Given the description of an element on the screen output the (x, y) to click on. 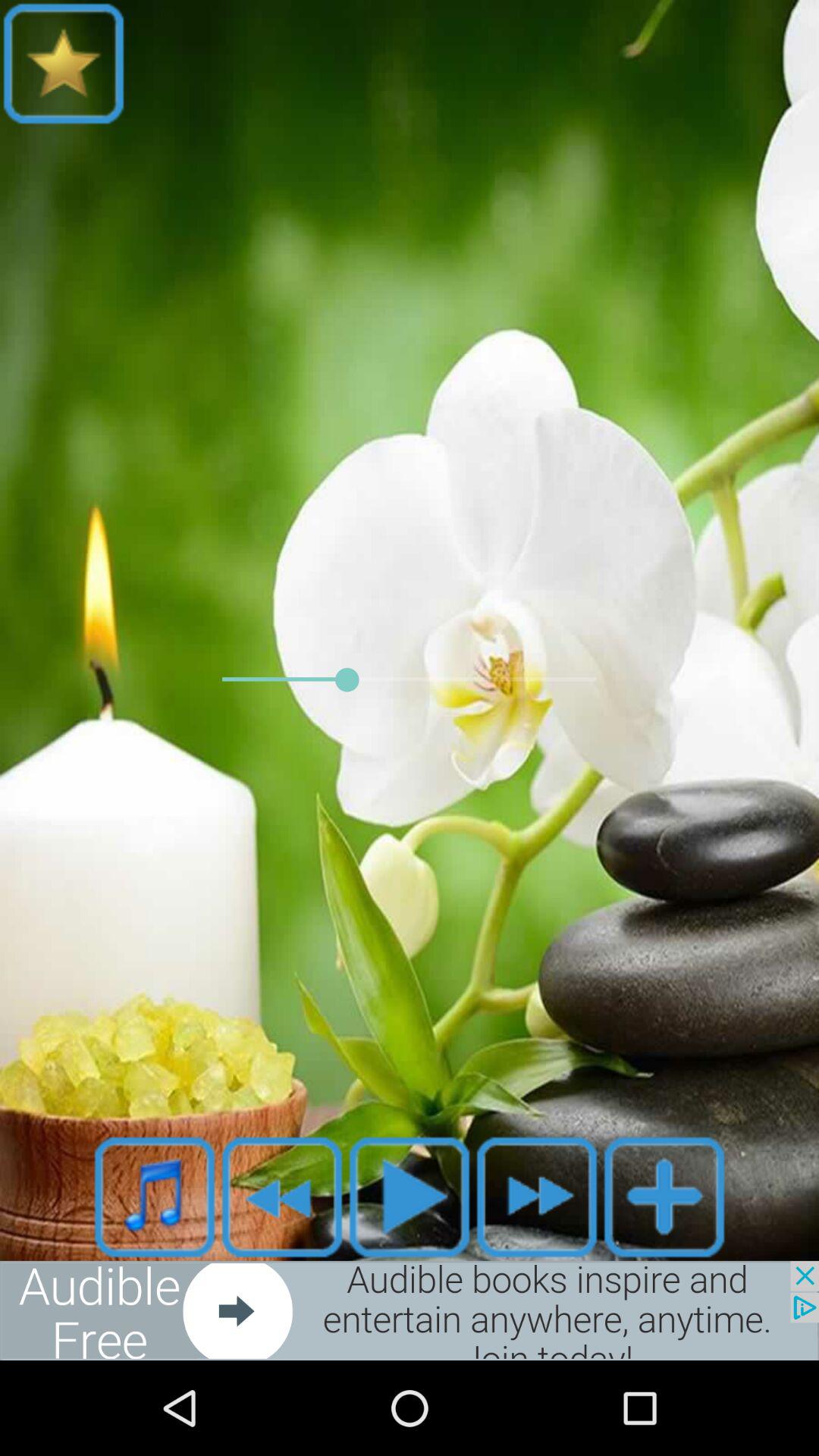
view music (154, 1196)
